Given the description of an element on the screen output the (x, y) to click on. 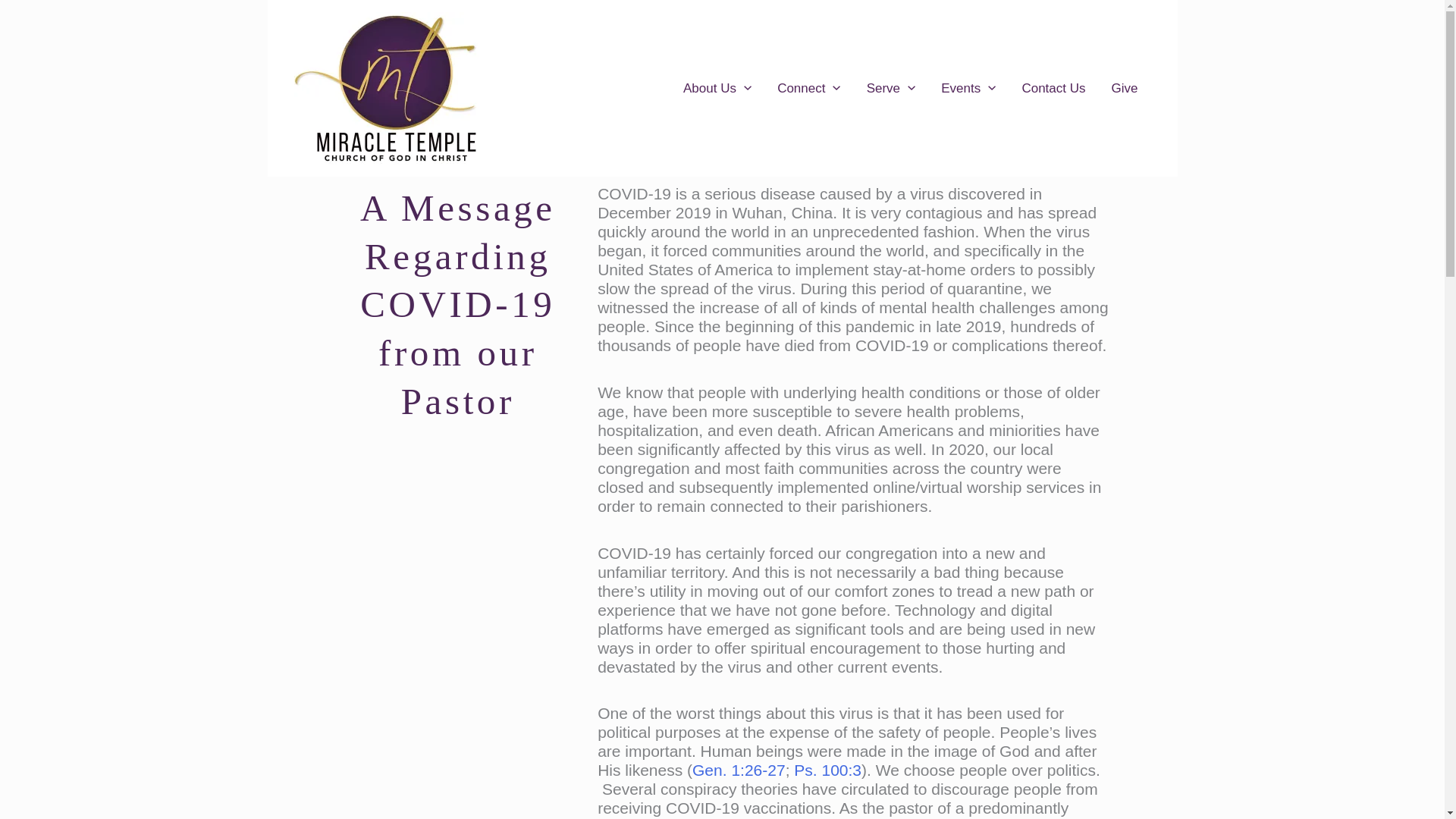
About Us (716, 88)
Connect (808, 88)
Serve (890, 88)
Events (968, 88)
